Given the description of an element on the screen output the (x, y) to click on. 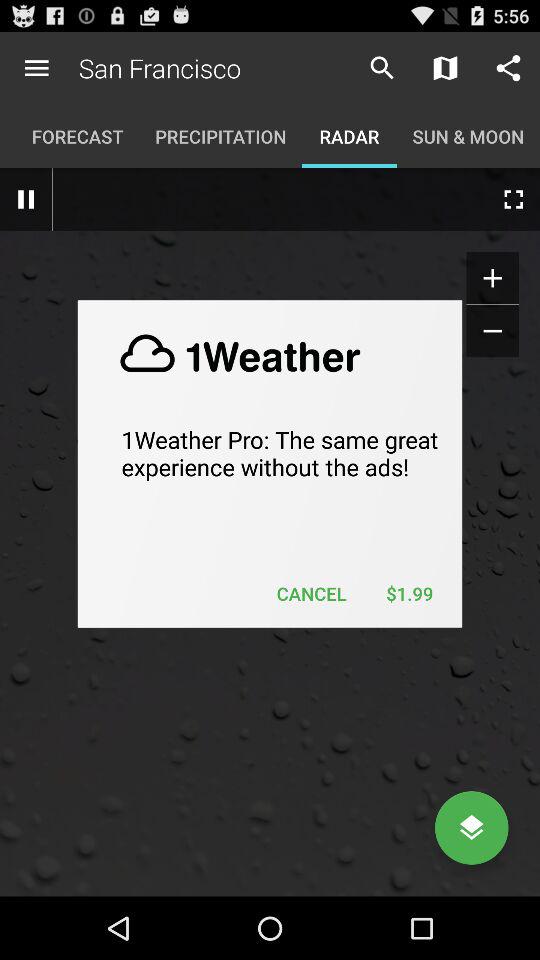
tap the item next to the cancel (409, 593)
